Given the description of an element on the screen output the (x, y) to click on. 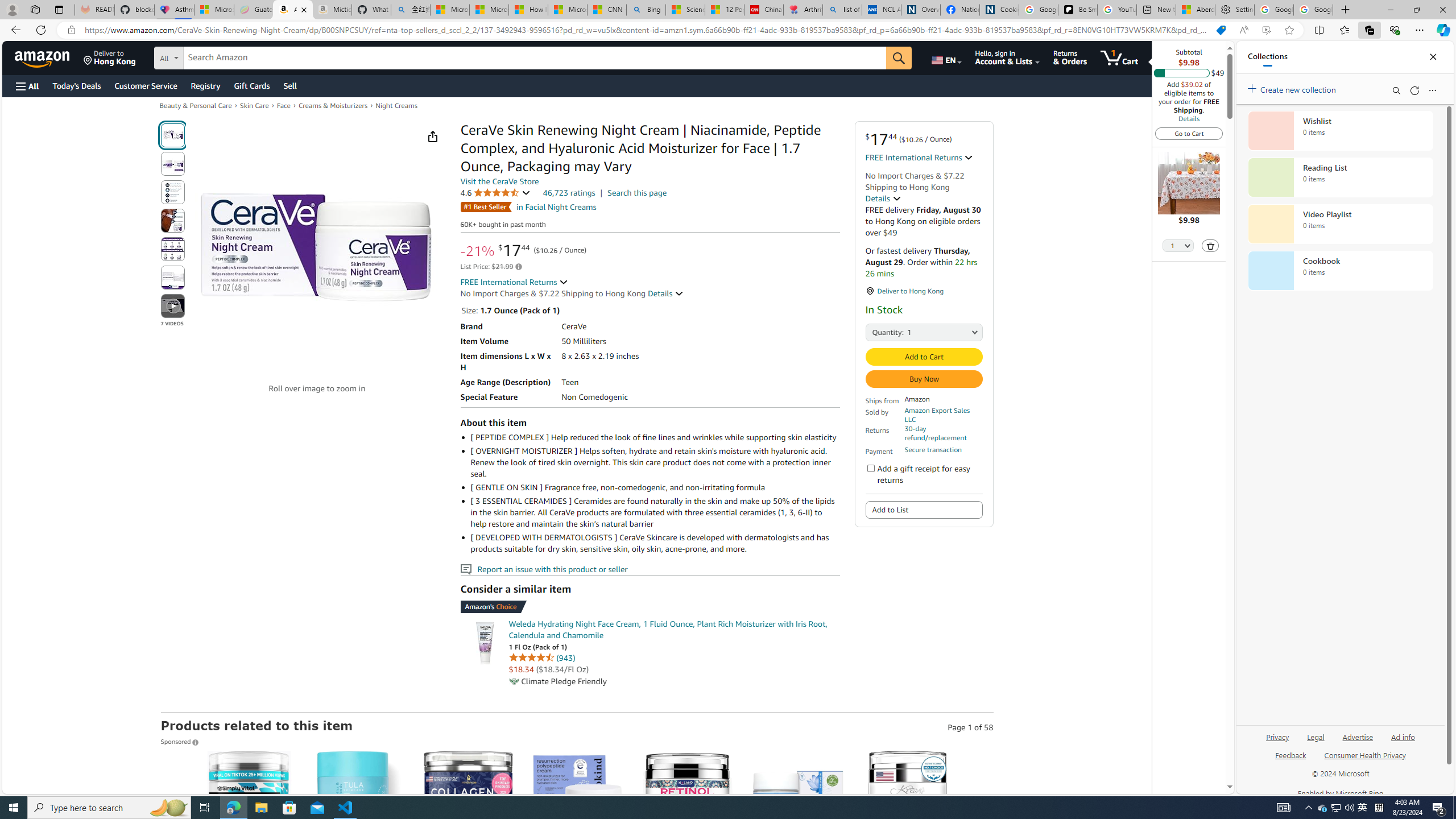
Skin Care (253, 105)
Arthritis: Ask Health Professionals (802, 9)
Open Menu (26, 86)
